Given the description of an element on the screen output the (x, y) to click on. 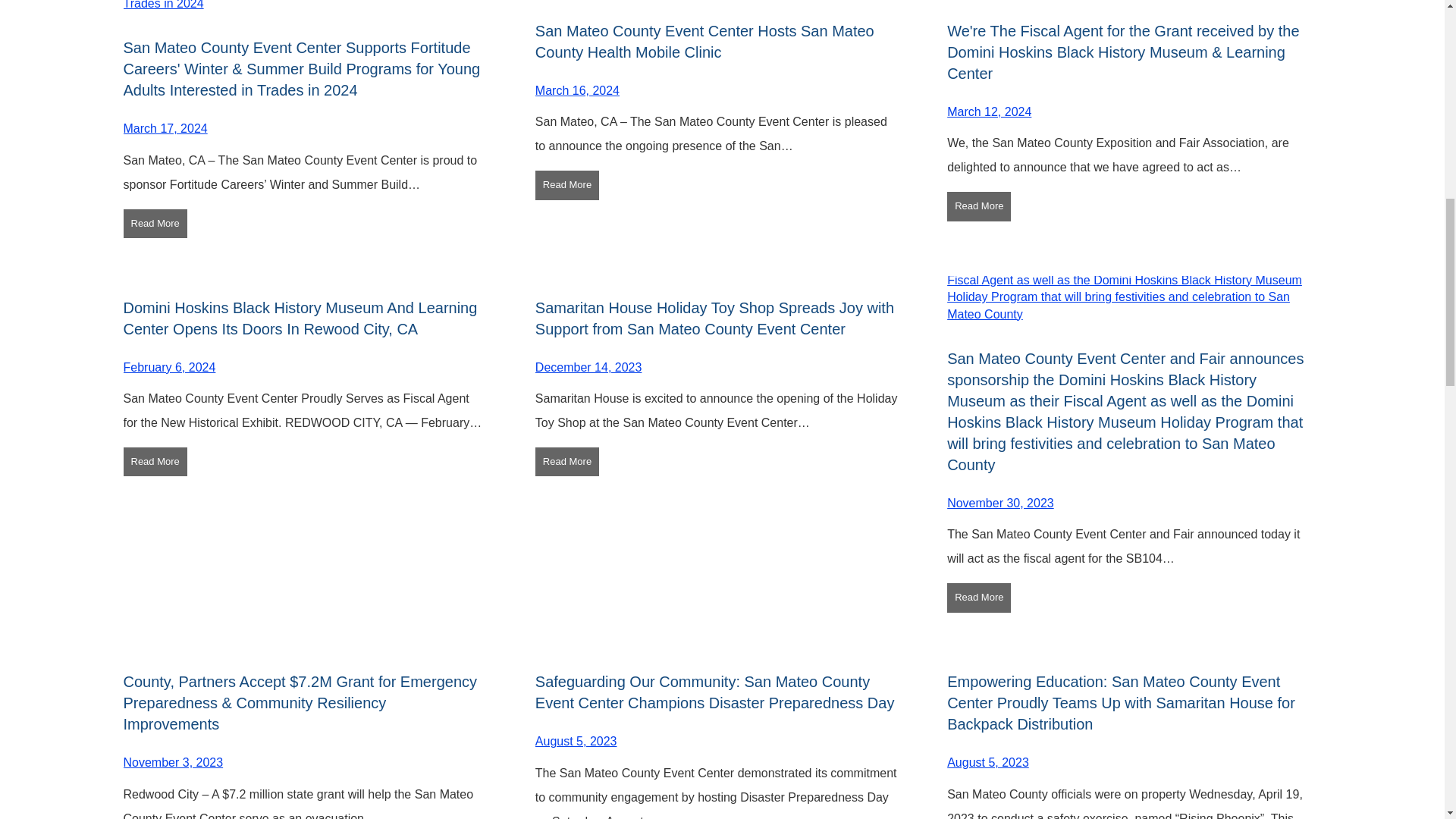
2023-11-03T06:35:43-07:00 (172, 762)
2024-03-16T16:57:40-07:00 (577, 90)
2023-08-05T12:50:00-07:00 (576, 740)
2024-03-12T17:50:34-07:00 (988, 111)
2024-02-06T18:10:47-07:00 (168, 367)
2023-11-30T12:22:17-07:00 (1000, 502)
2023-12-14T12:51:01-07:00 (588, 367)
2023-08-05T12:21:27-07:00 (988, 762)
2024-03-17T16:58:55-07:00 (164, 128)
